Given the description of an element on the screen output the (x, y) to click on. 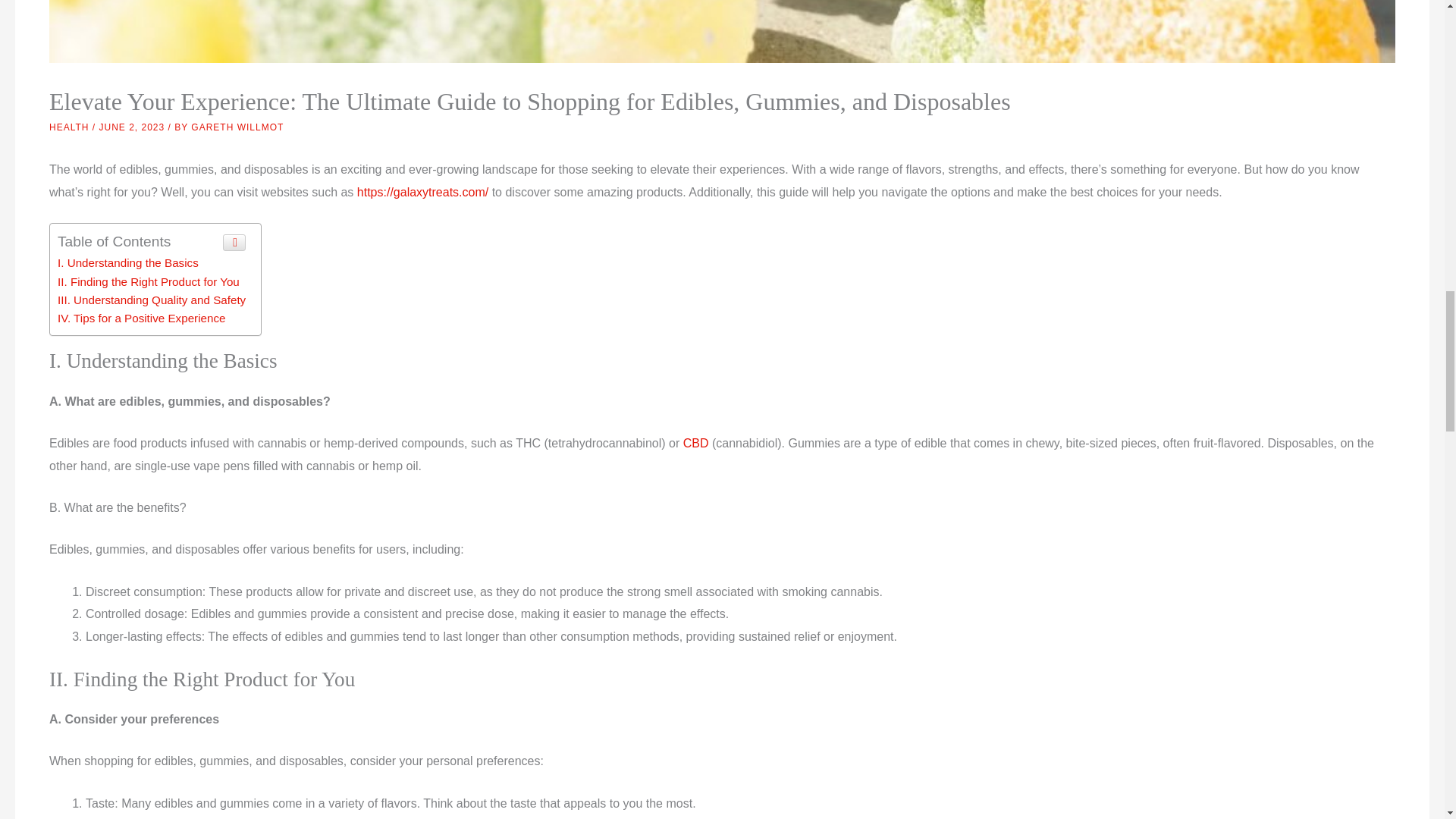
IV. Tips for a Positive Experience (141, 318)
IV. Tips for a Positive Experience (141, 318)
CBD (695, 442)
GARETH WILLMOT (236, 127)
View all posts by Gareth Willmot (236, 127)
HEALTH (68, 127)
III. Understanding Quality and Safety (152, 299)
II. Finding the Right Product for You (149, 280)
II. Finding the Right Product for You (149, 280)
I. Understanding the Basics (128, 262)
III. Understanding Quality and Safety (152, 299)
I. Understanding the Basics (128, 262)
